Given the description of an element on the screen output the (x, y) to click on. 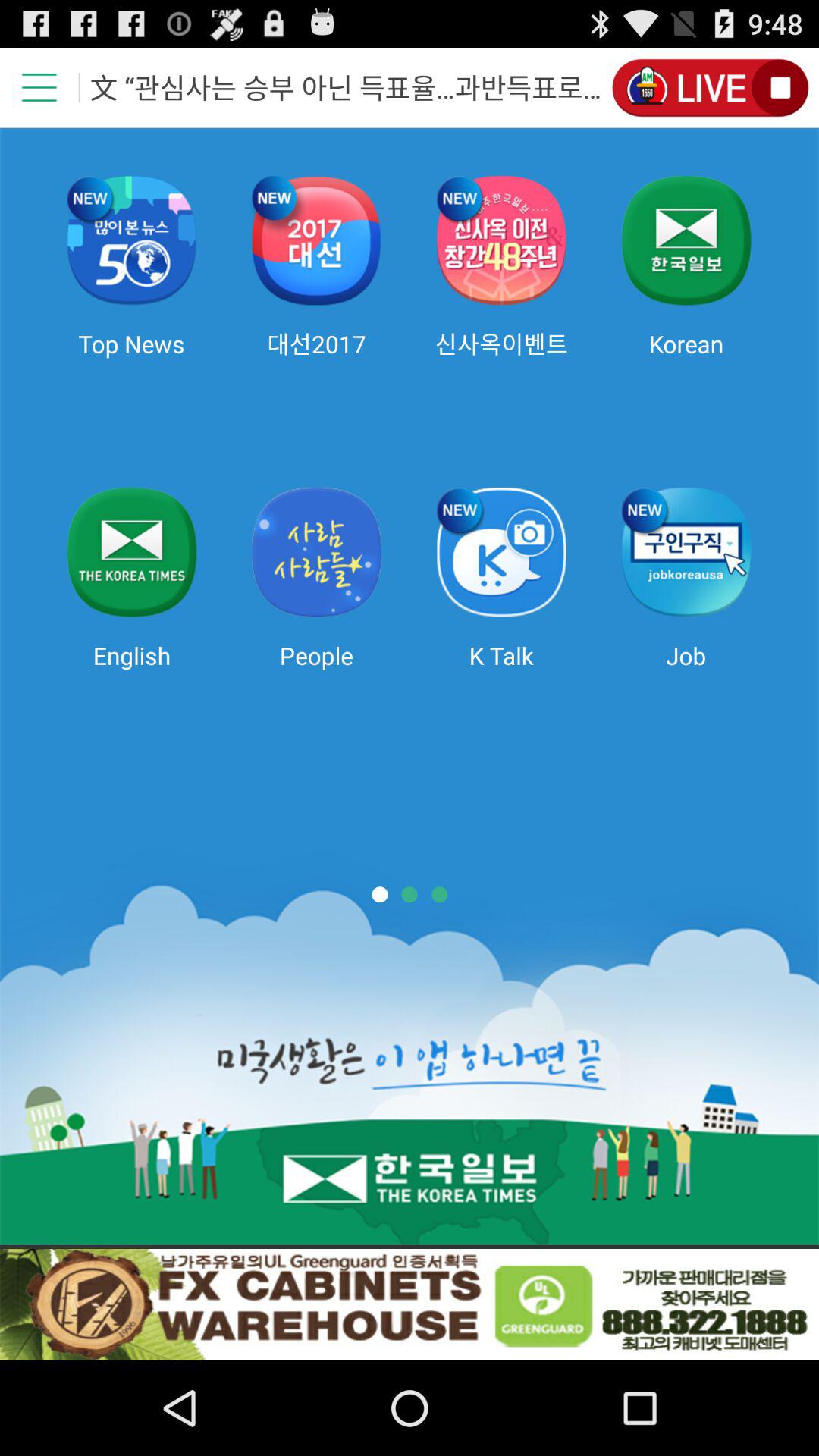
go to advertisement (409, 1304)
